Given the description of an element on the screen output the (x, y) to click on. 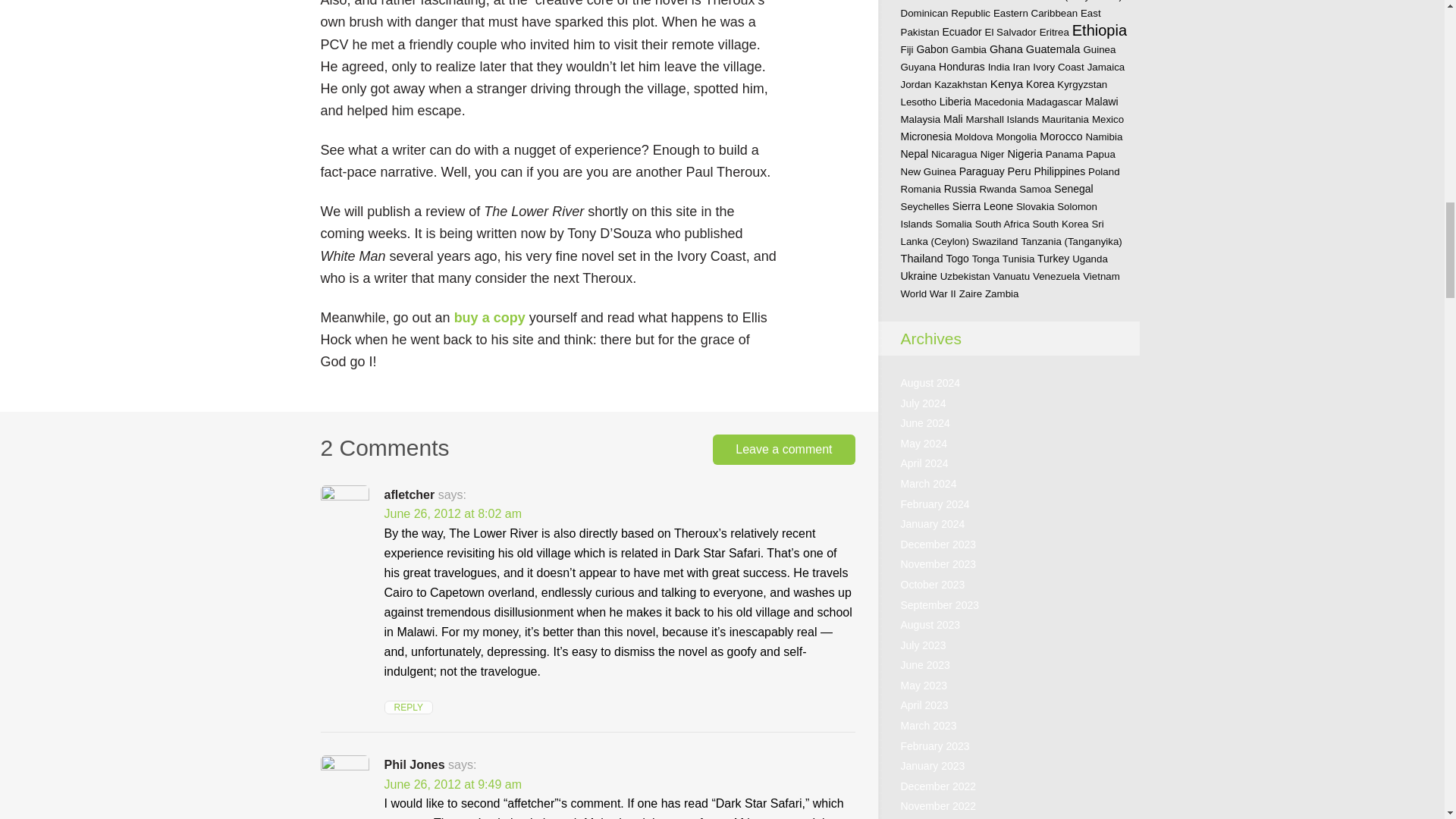
buy a copy (489, 317)
June 26, 2012 at 9:49 am (452, 784)
Leave a comment (783, 449)
June 26, 2012 at 8:02 am (452, 513)
REPLY (408, 707)
